Given the description of an element on the screen output the (x, y) to click on. 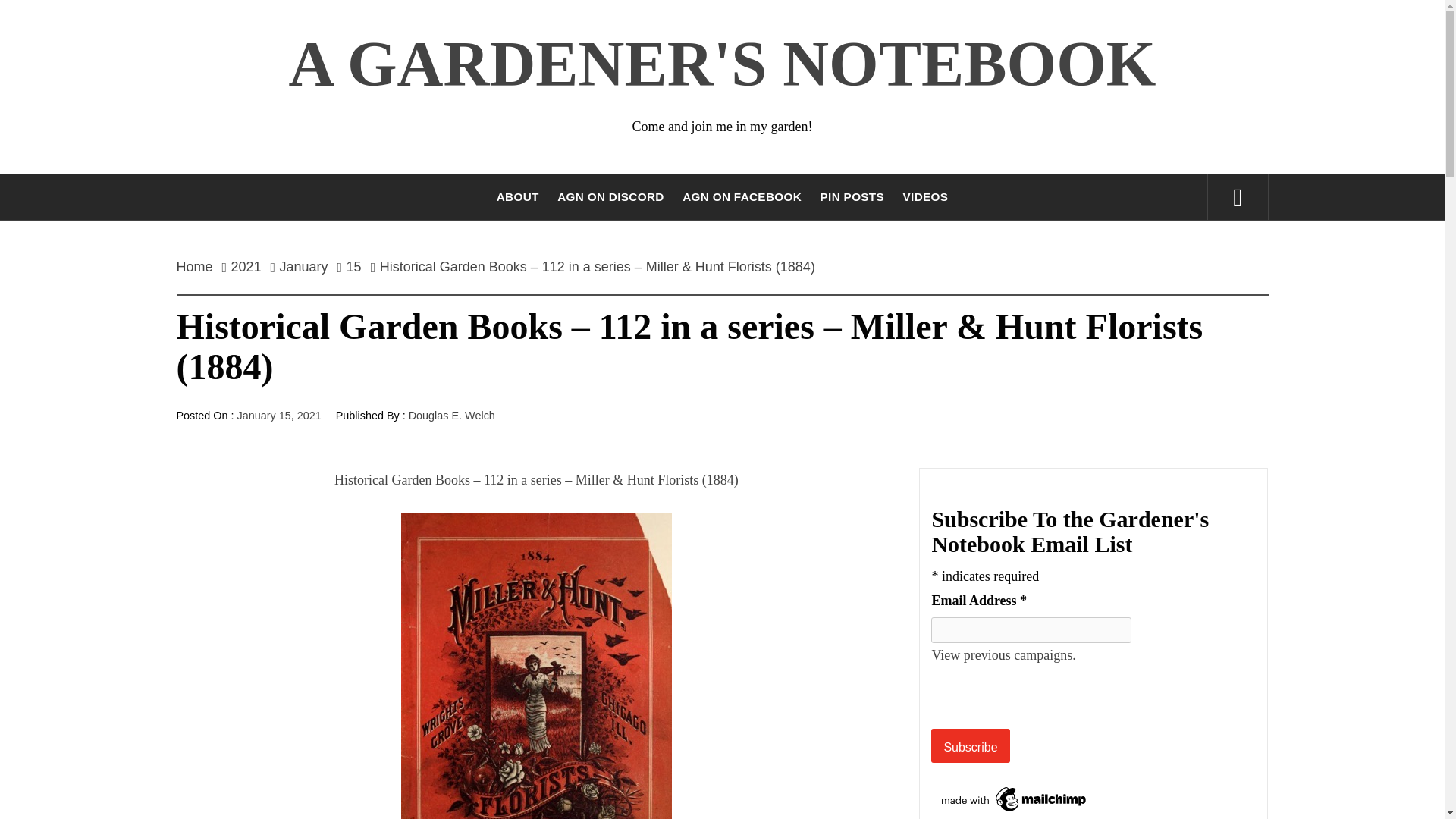
AGN ON DISCORD (610, 197)
15 (354, 266)
Home (198, 266)
Subscribe (970, 745)
ABOUT (518, 197)
VIDEOS (925, 197)
January (303, 266)
Search (797, 37)
Mailchimp - email marketing made easy and fun (1014, 798)
Douglas E. Welch (452, 415)
AGN ON FACEBOOK (742, 197)
PIN POSTS (851, 197)
January 15, 2021 (277, 415)
View previous campaigns (1003, 654)
A GARDENER'S NOTEBOOK (722, 63)
